Given the description of an element on the screen output the (x, y) to click on. 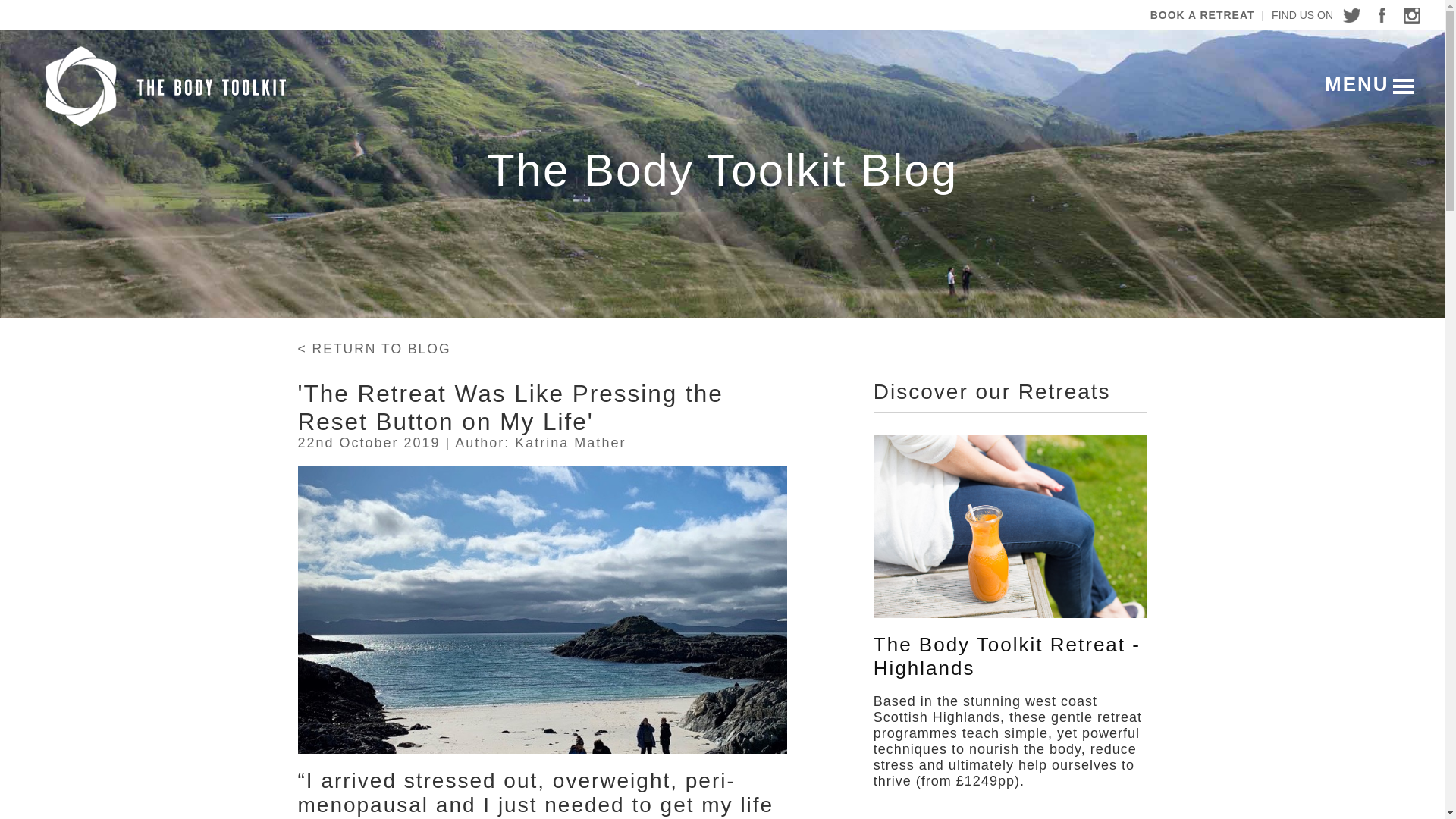
INSTAGRAM (1412, 15)
The Body Toolkit Blog (722, 169)
The Body Toolkit Retreat - Highlands (1010, 656)
TWITTER (1350, 14)
BOOK A RETREAT (1204, 15)
